Given the description of an element on the screen output the (x, y) to click on. 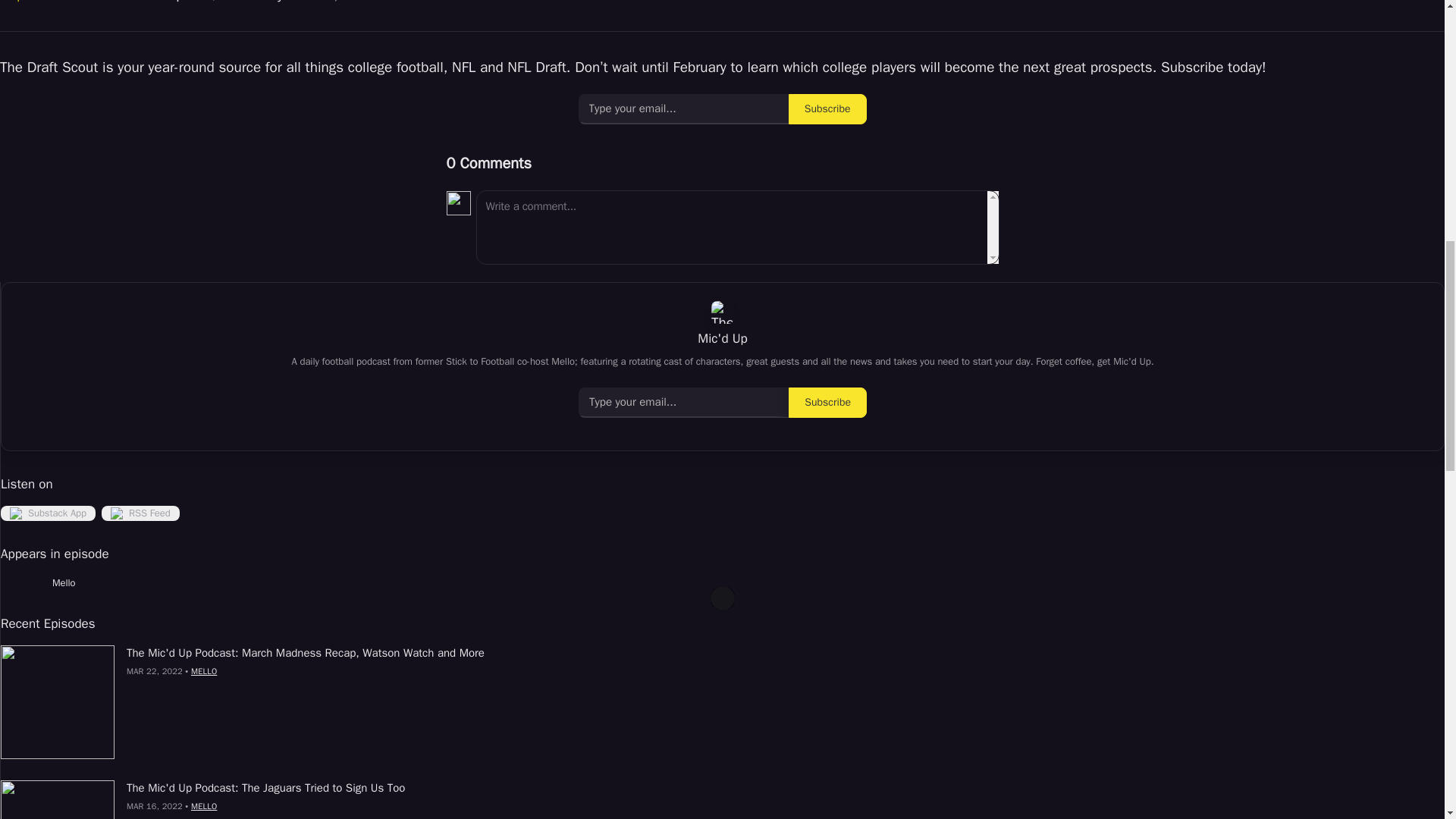
Roper Kia (30, 2)
Subscribe (827, 109)
